Given the description of an element on the screen output the (x, y) to click on. 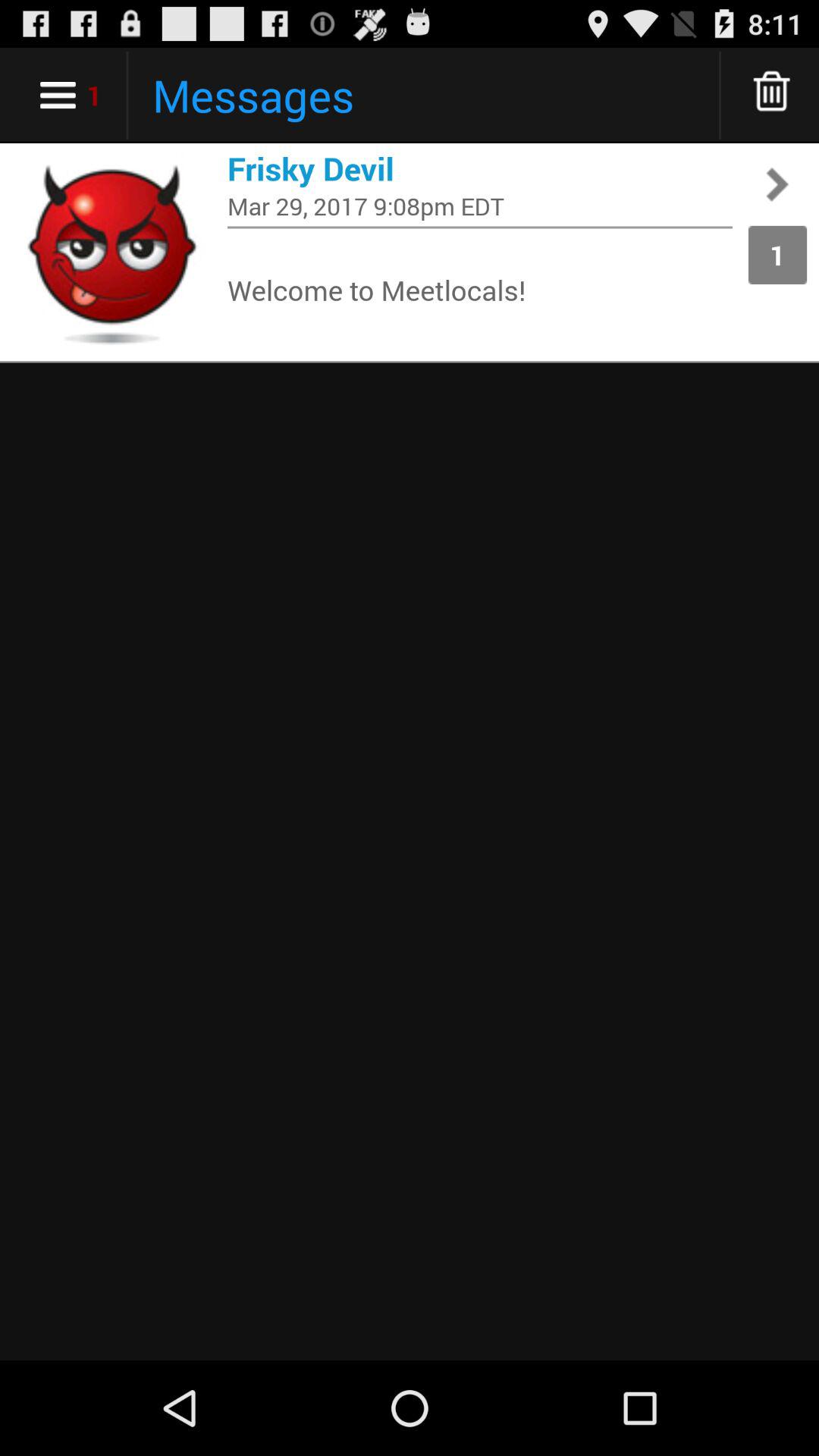
select the app below mar 29 2017 app (479, 227)
